Given the description of an element on the screen output the (x, y) to click on. 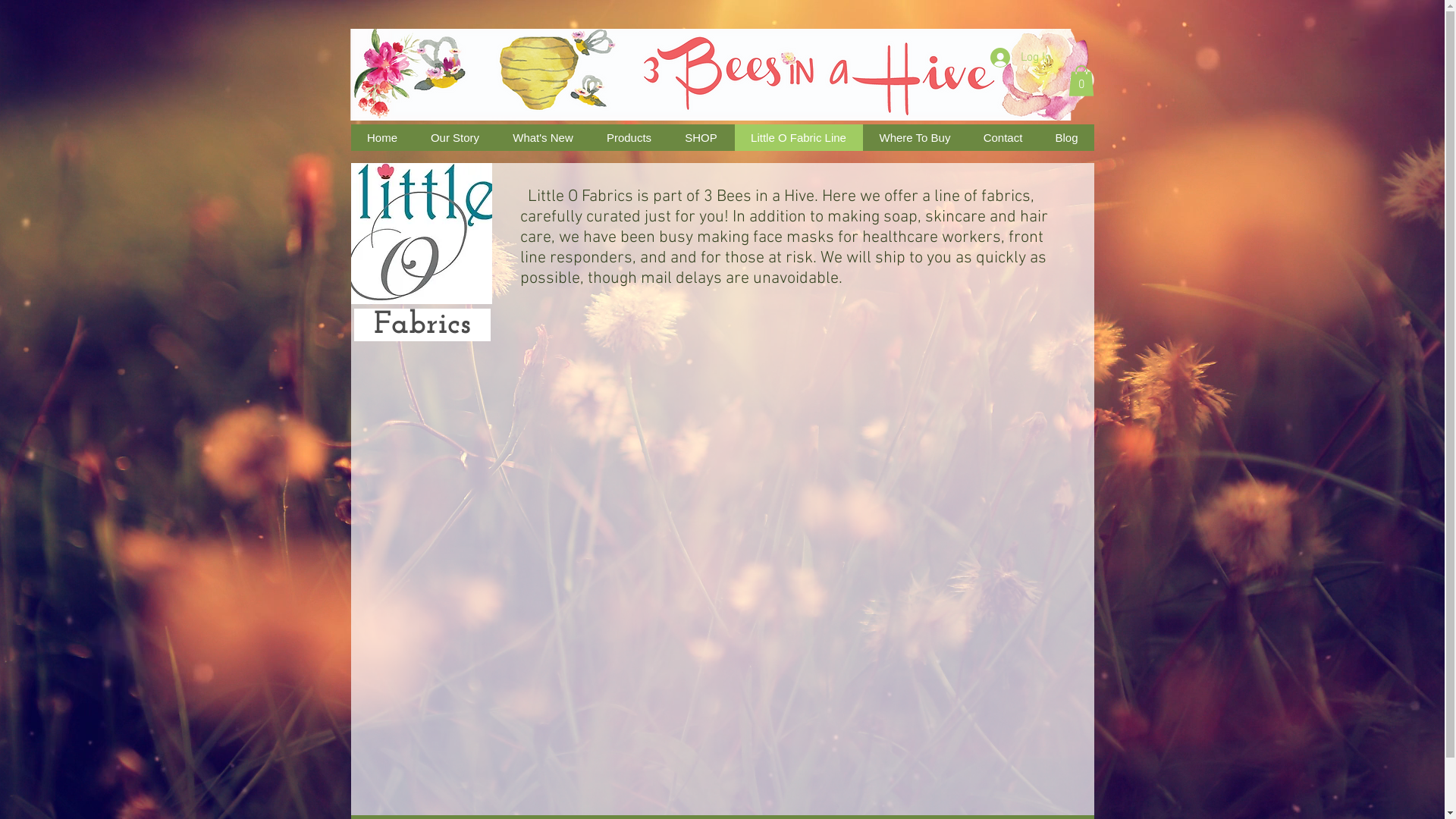
Our Story Element type: text (454, 137)
SHOP Element type: text (700, 137)
Where To Buy Element type: text (914, 137)
Log In Element type: text (1020, 57)
0 Element type: text (1080, 80)
Blog Element type: text (1066, 137)
Contact Element type: text (1002, 137)
What's New Element type: text (542, 137)
Little O Fabric Line Element type: text (798, 137)
Products Element type: text (628, 137)
Home Element type: text (381, 137)
